Given the description of an element on the screen output the (x, y) to click on. 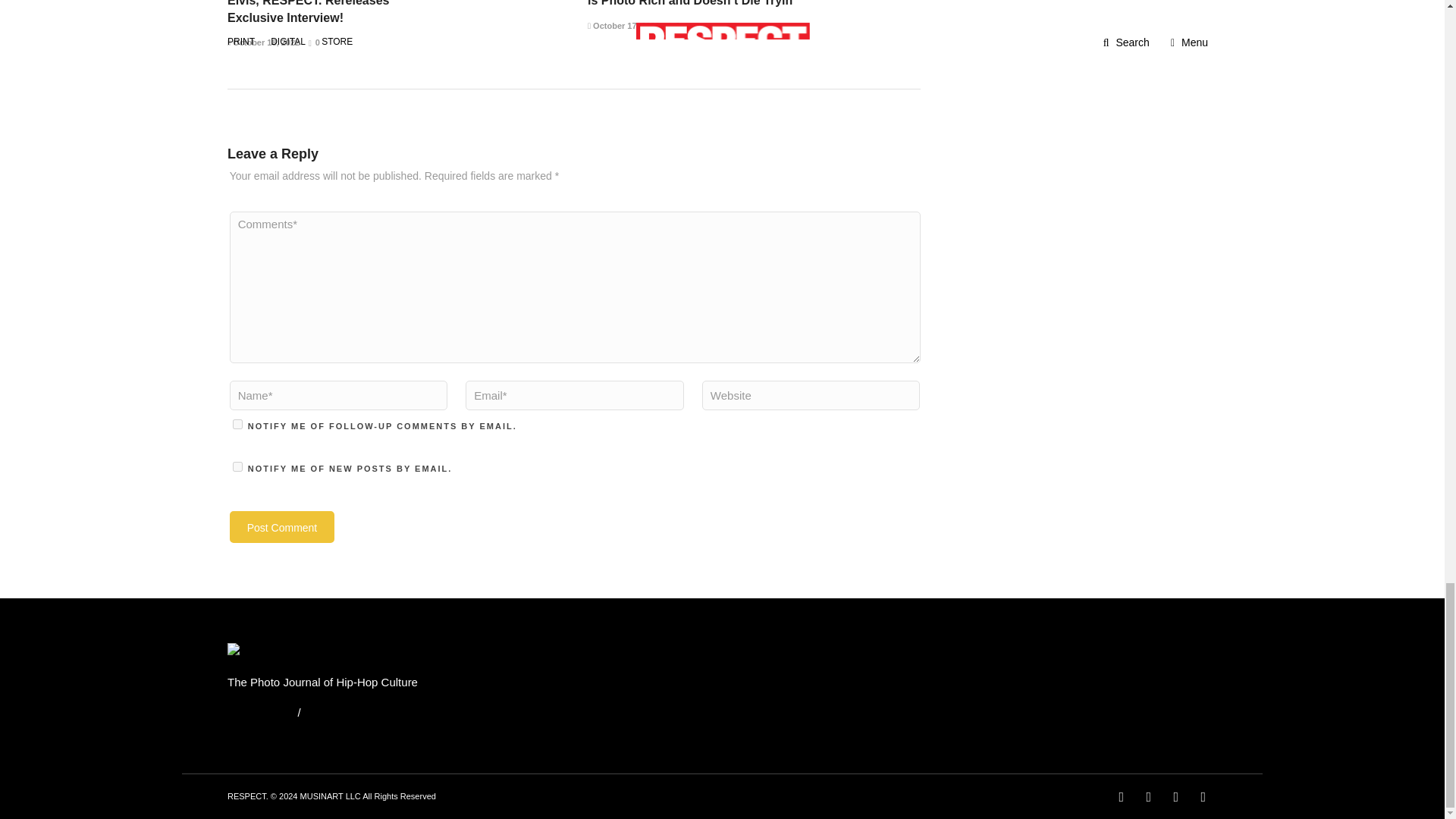
subscribe (237, 466)
subscribe (237, 424)
Post Comment (282, 526)
